Given the description of an element on the screen output the (x, y) to click on. 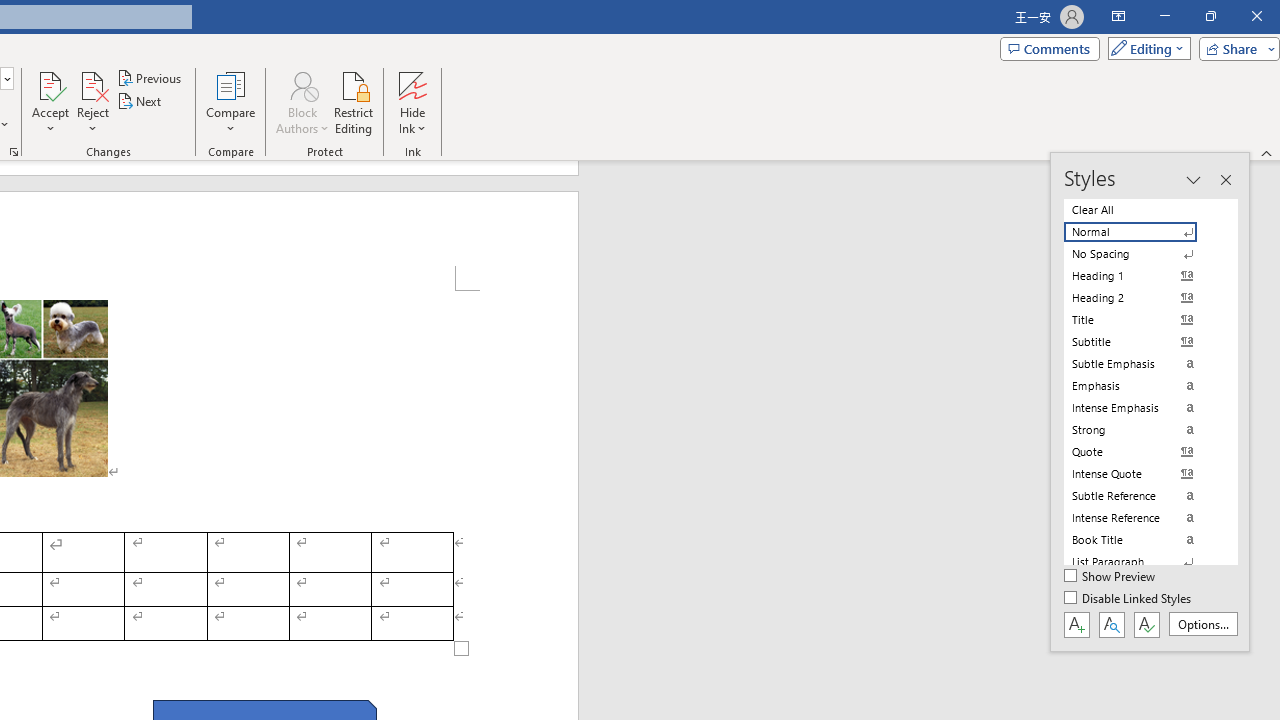
Previous (150, 78)
Heading 2 (1142, 297)
Editing (1144, 47)
Task Pane Options (1193, 179)
Compare (230, 102)
Reject (92, 102)
Next (140, 101)
Restrict Editing (353, 102)
Ribbon Display Options (1118, 16)
Disable Linked Styles (1129, 599)
Subtle Emphasis (1142, 363)
